Given the description of an element on the screen output the (x, y) to click on. 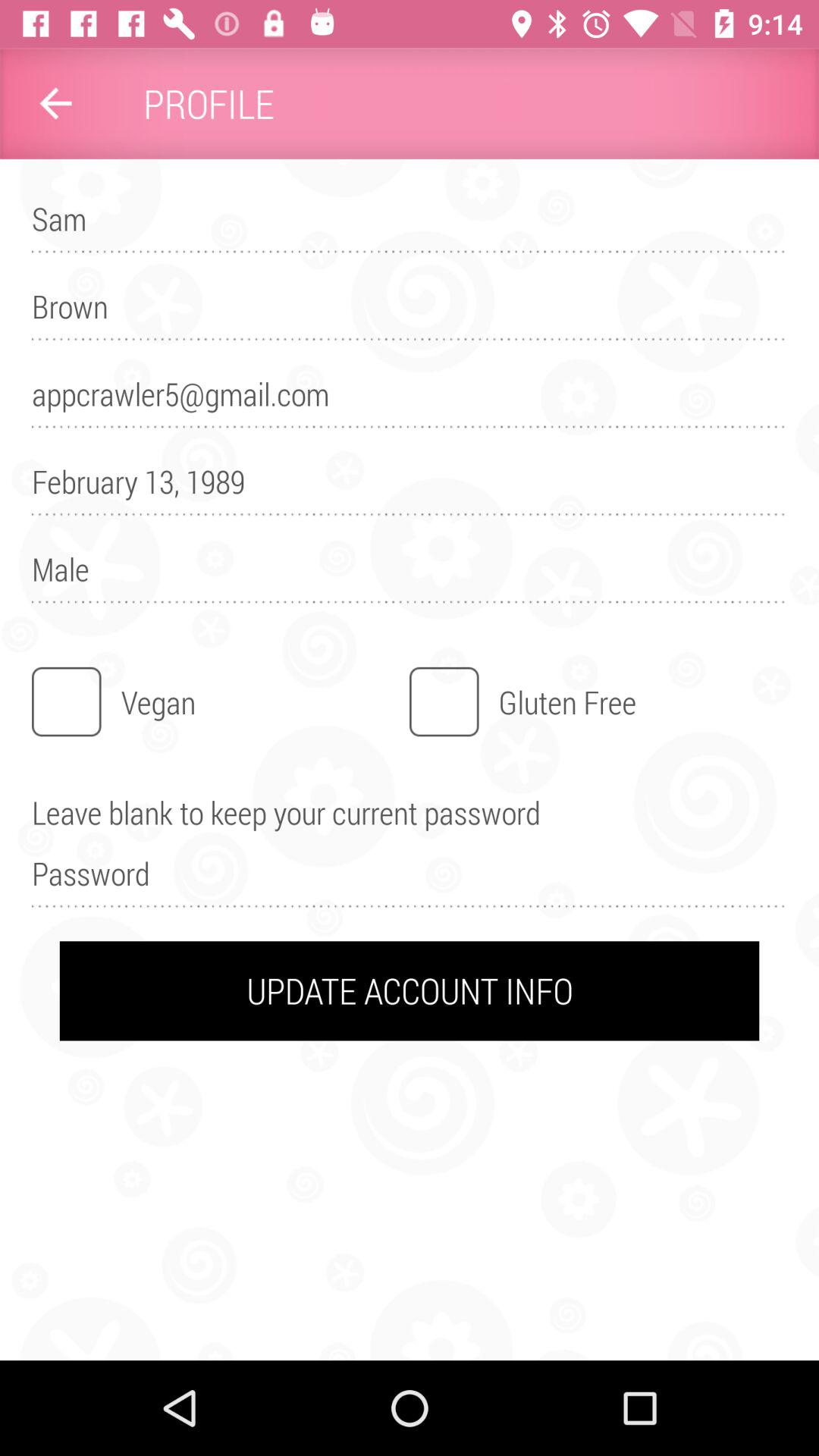
turn on the icon above the brown icon (409, 225)
